Given the description of an element on the screen output the (x, y) to click on. 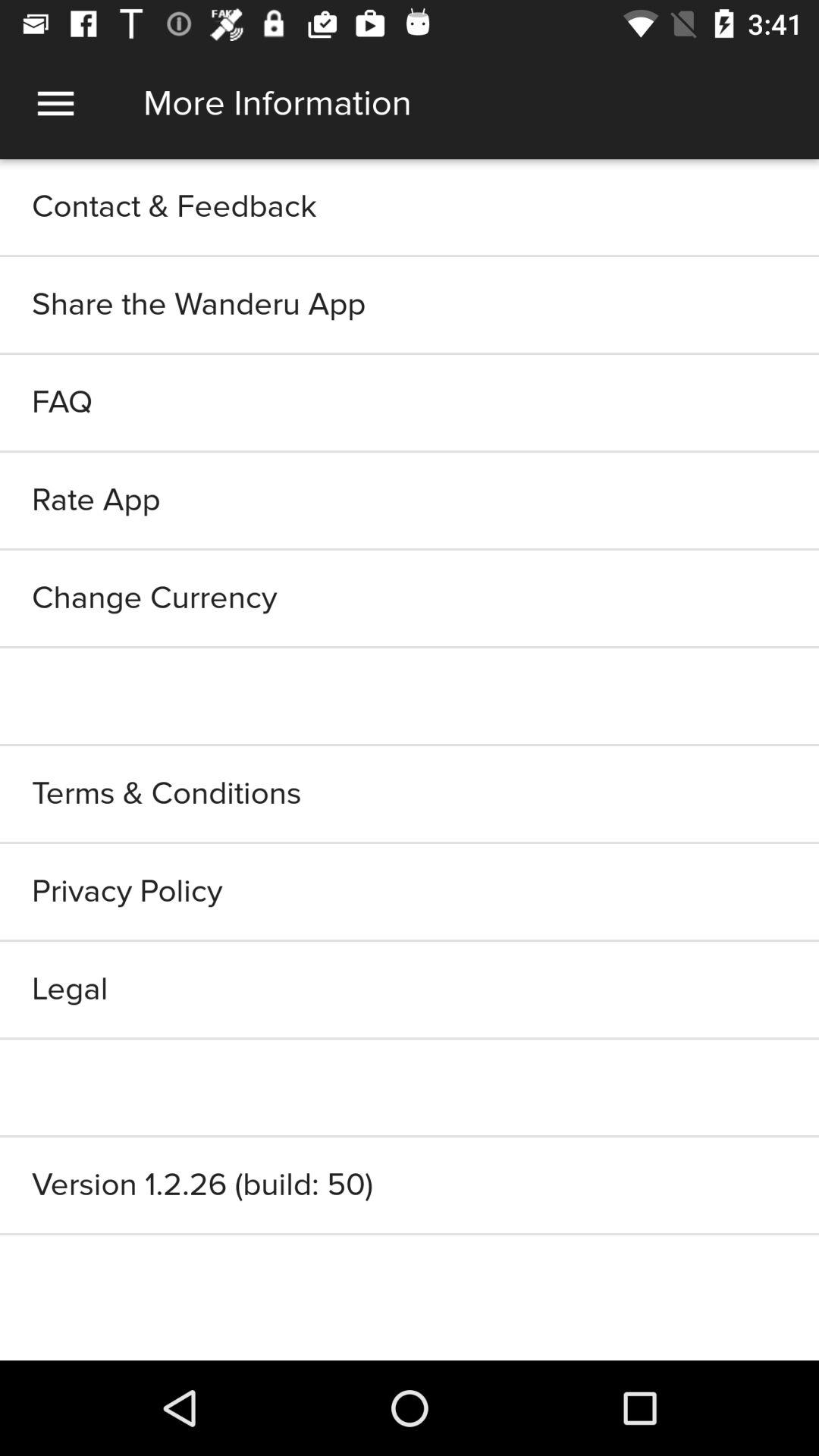
launch item at the top left corner (55, 103)
